Given the description of an element on the screen output the (x, y) to click on. 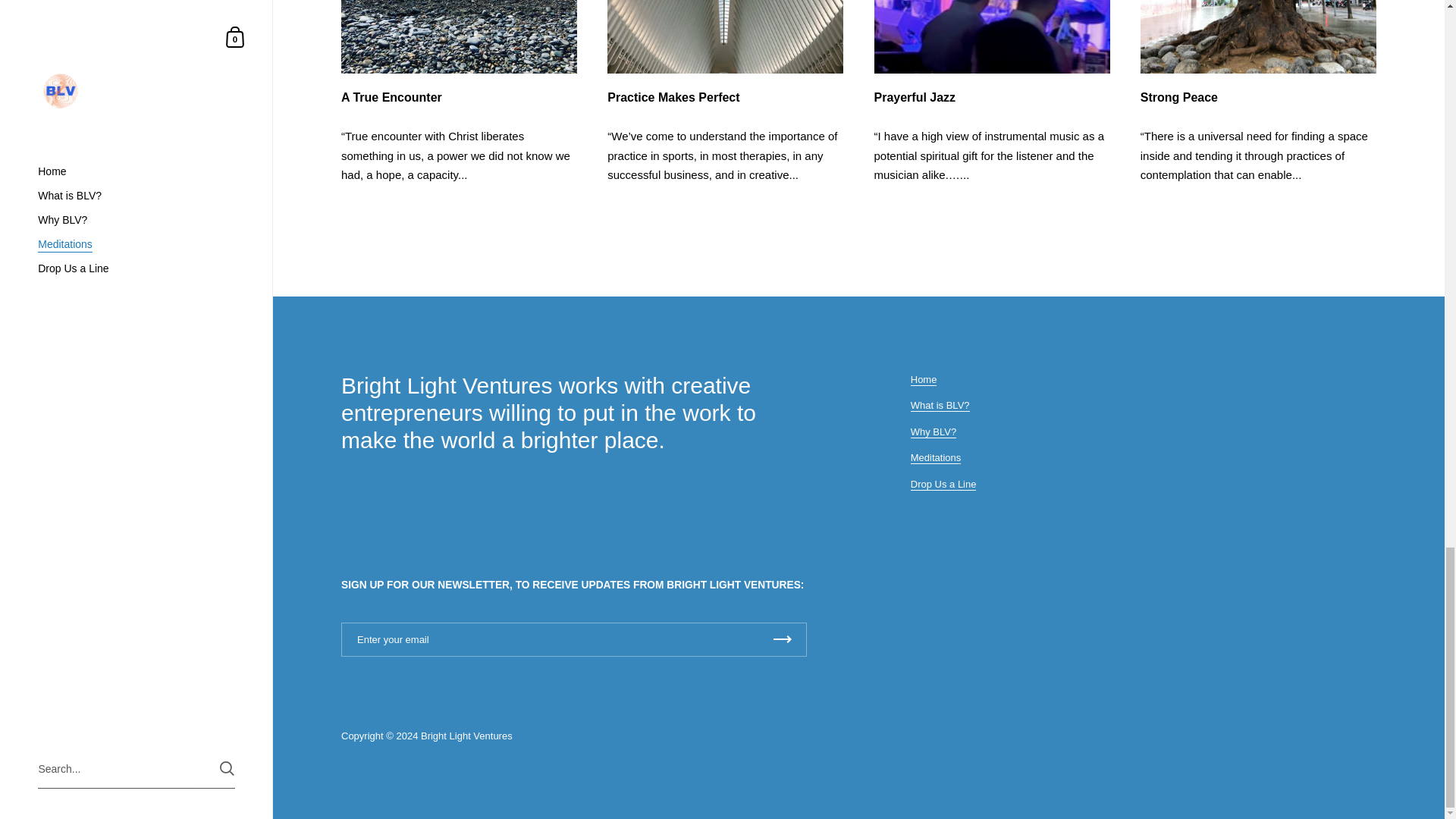
A True Encounter (458, 36)
Drop Us a Line (943, 484)
Strong Peace (1257, 36)
Prayerful Jazz (991, 36)
A True Encounter (458, 97)
Strong Peace (1257, 97)
Home (924, 379)
Bright Light Ventures (466, 736)
Meditations (935, 458)
Strong Peace (1257, 97)
Practice Makes Perfect (725, 36)
A True Encounter (458, 97)
Practice Makes Perfect (725, 97)
Prayerful Jazz (991, 97)
Prayerful Jazz (991, 97)
